Given the description of an element on the screen output the (x, y) to click on. 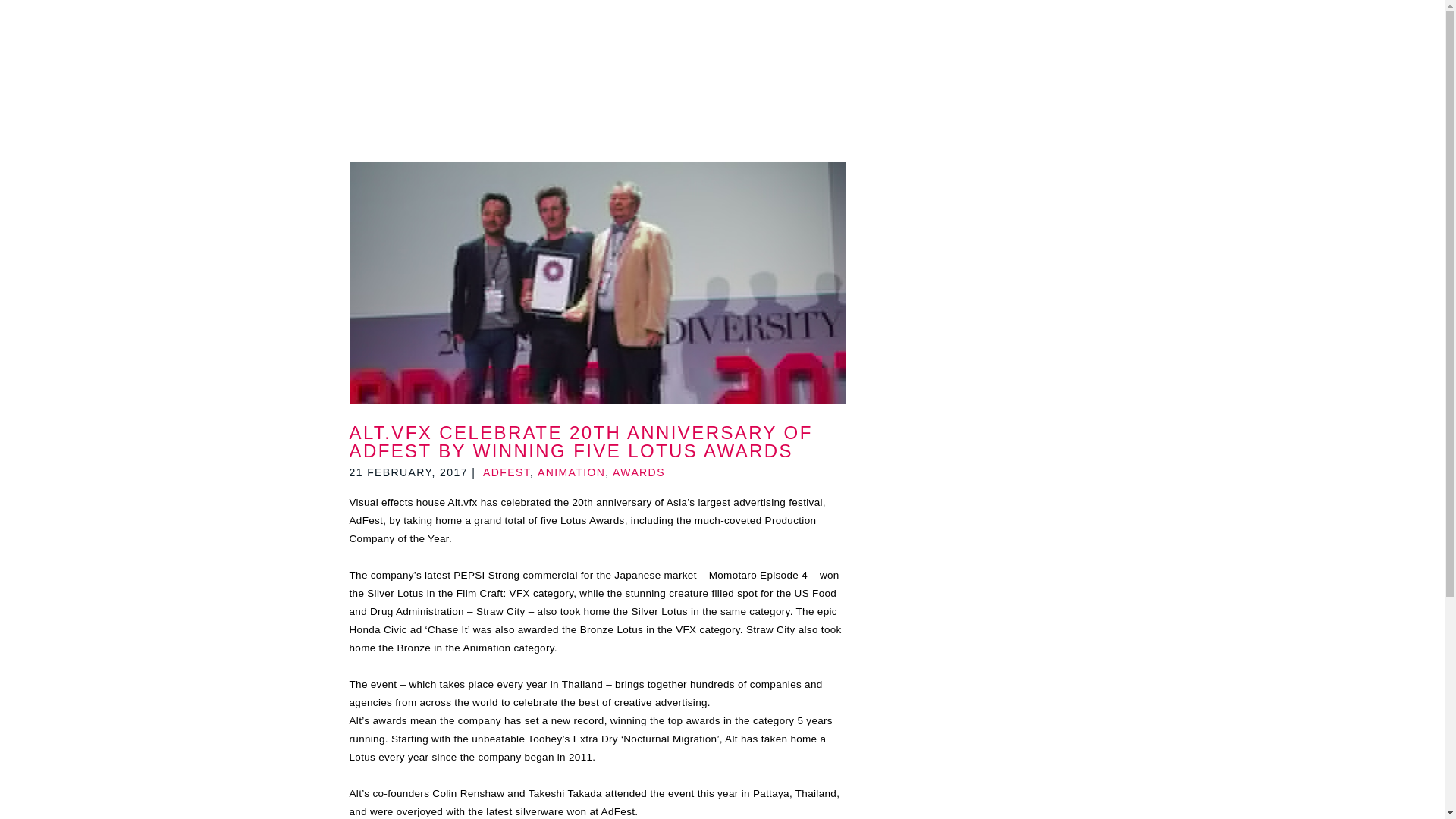
Prev (270, 6)
Next (1173, 6)
